Given the description of an element on the screen output the (x, y) to click on. 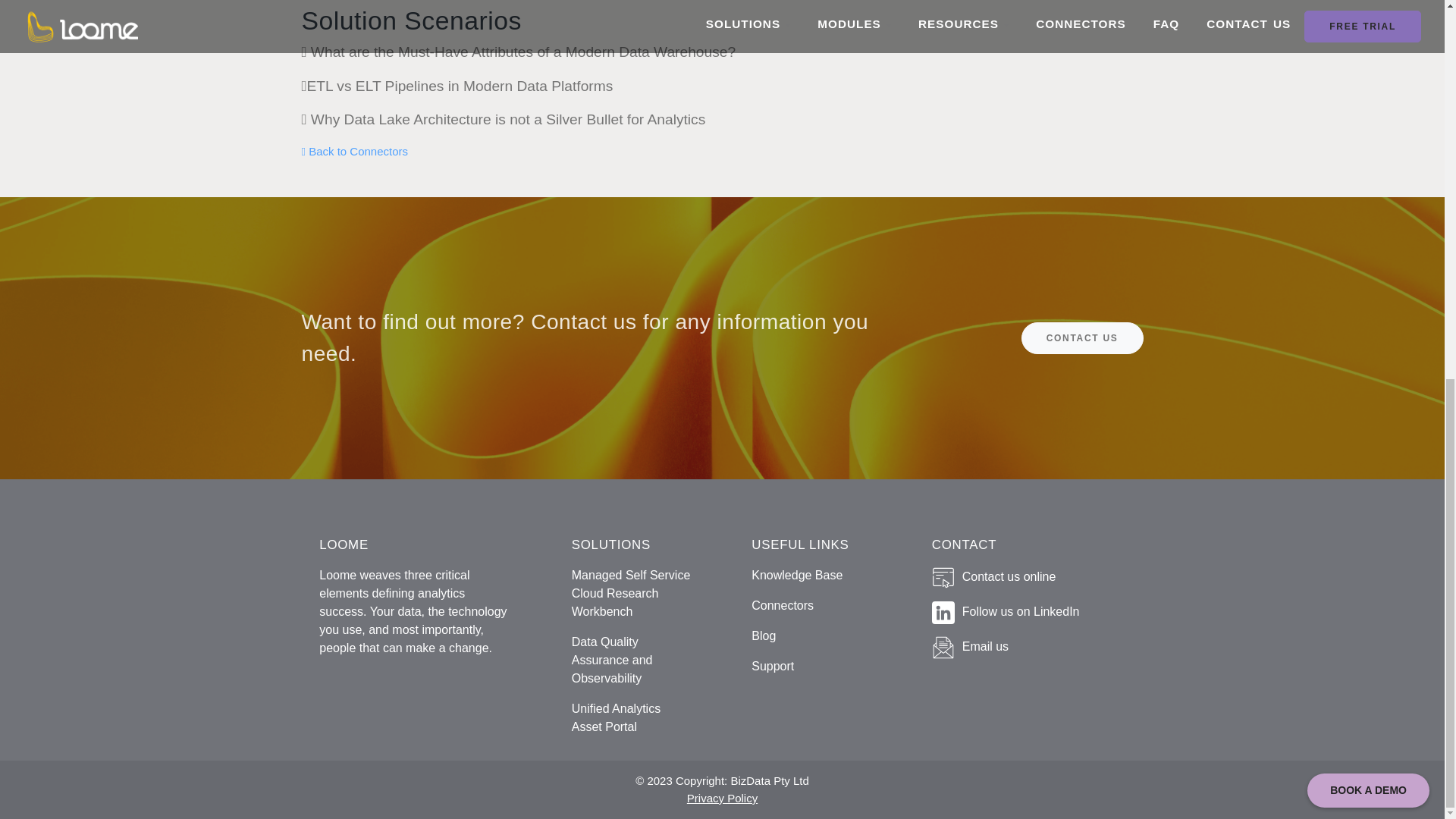
Managed Self Service Cloud Research Workbench (631, 593)
CONTACT US (1082, 337)
Connectors (782, 604)
Data Quality Assurance and Observability (612, 659)
Blog (763, 635)
Unified Analytics Asset Portal (616, 717)
ETL vs ELT Pipelines in Modern Data Platforms (456, 85)
Contact us online (1009, 576)
Back to Connectors (355, 151)
Support (772, 666)
Knowledge Base (797, 574)
